Given the description of an element on the screen output the (x, y) to click on. 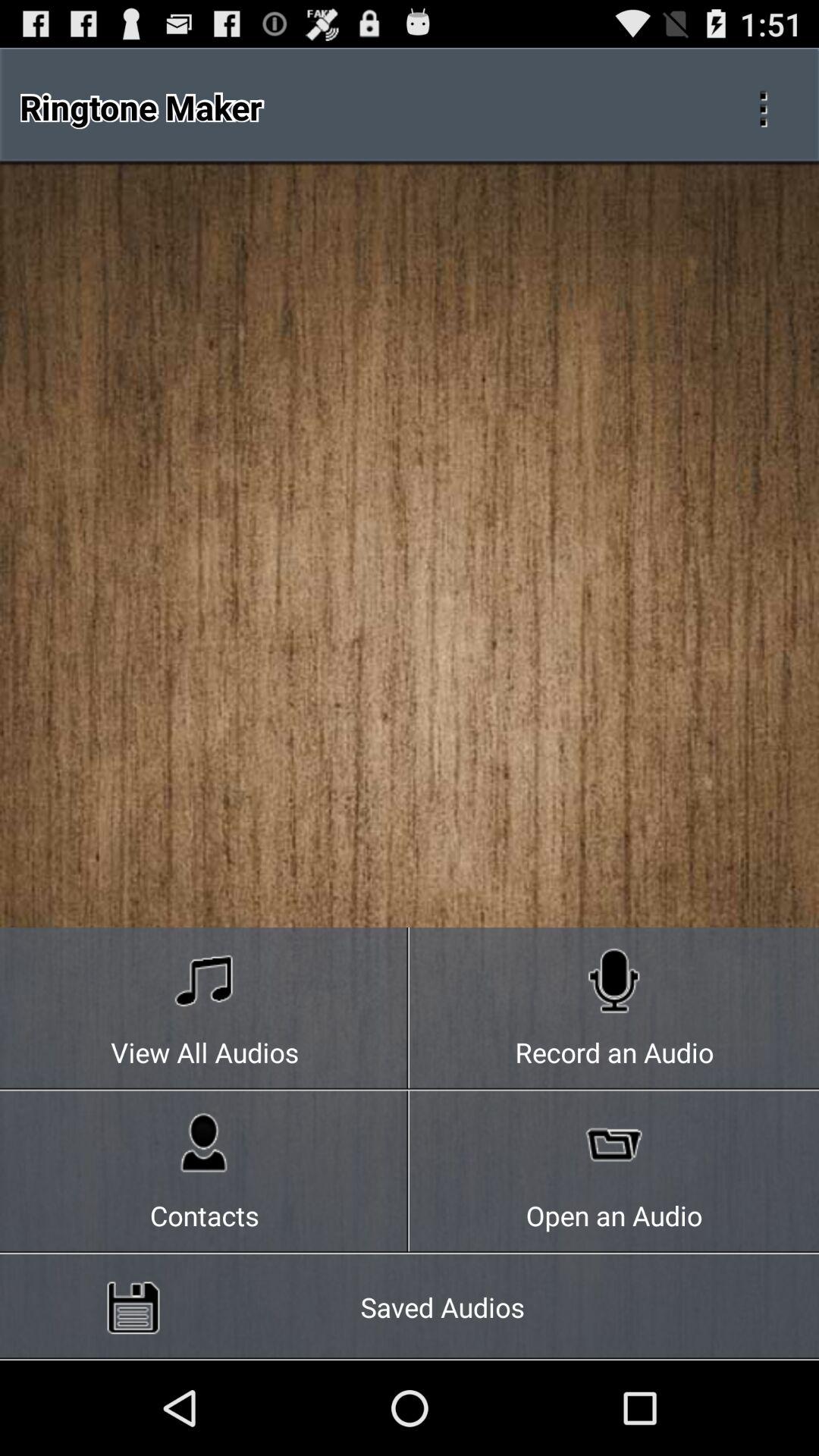
tap icon next to ringtone maker item (762, 107)
